Given the description of an element on the screen output the (x, y) to click on. 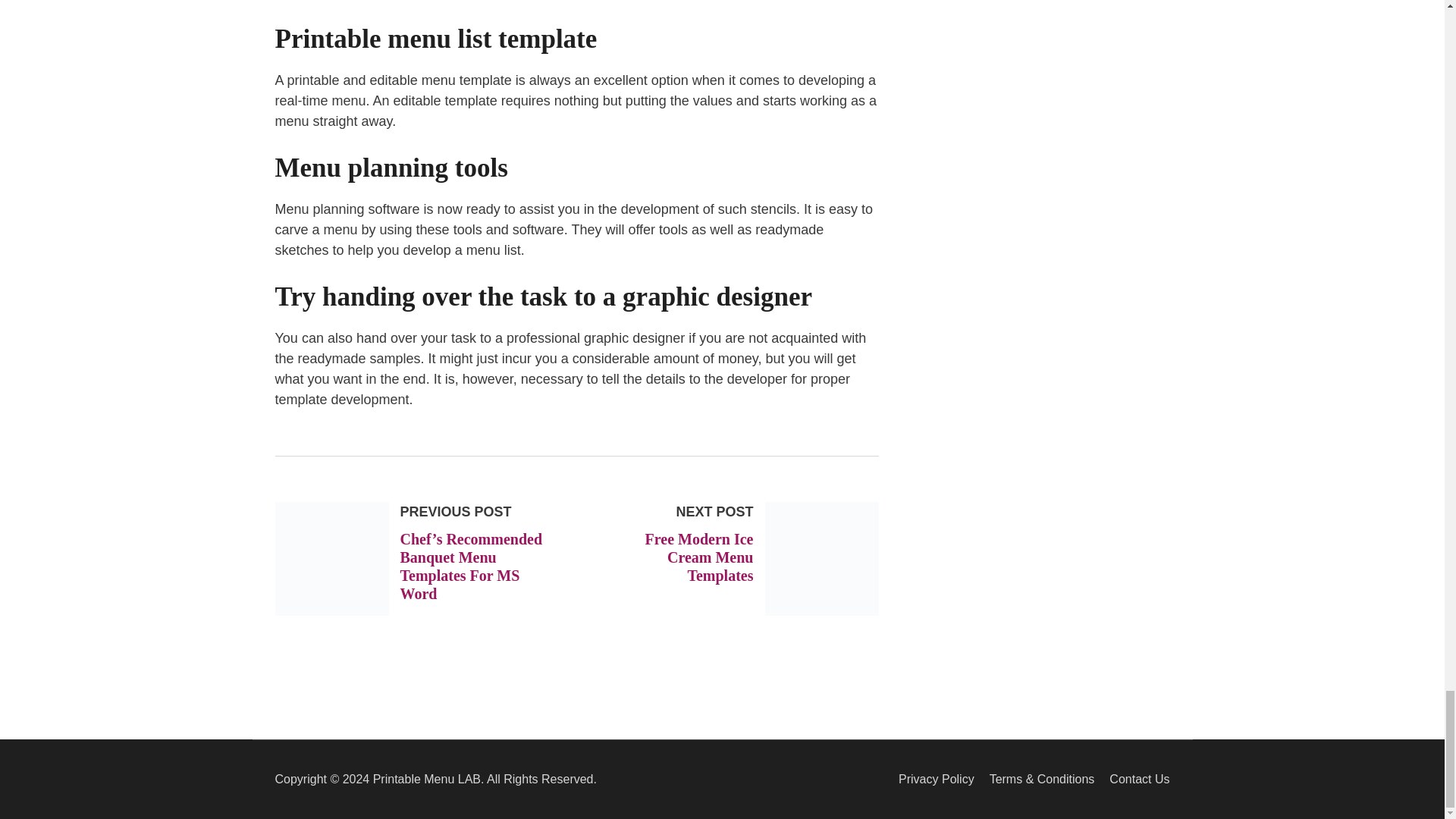
Free Modern Ice Cream Menu Templates (699, 556)
Privacy Policy (936, 779)
Contact Us (1139, 779)
